Given the description of an element on the screen output the (x, y) to click on. 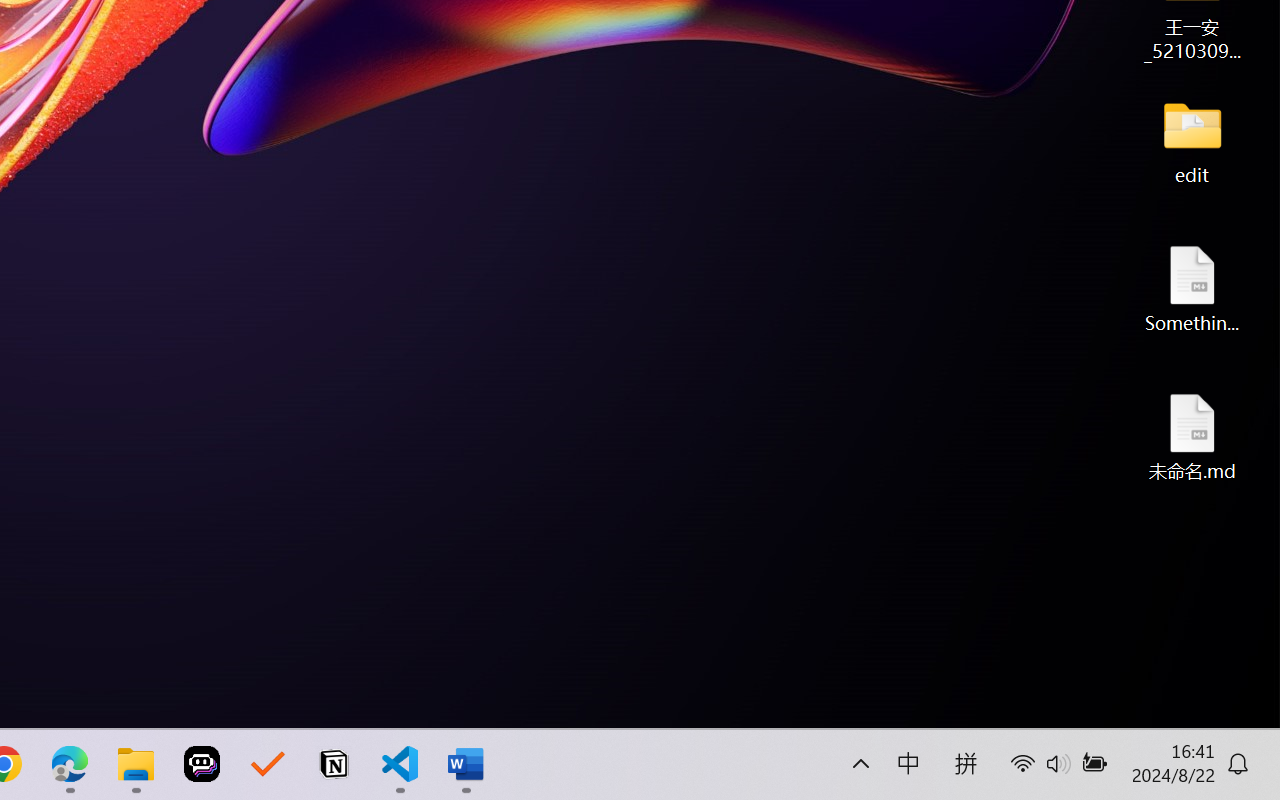
Poe (201, 764)
